Given the description of an element on the screen output the (x, y) to click on. 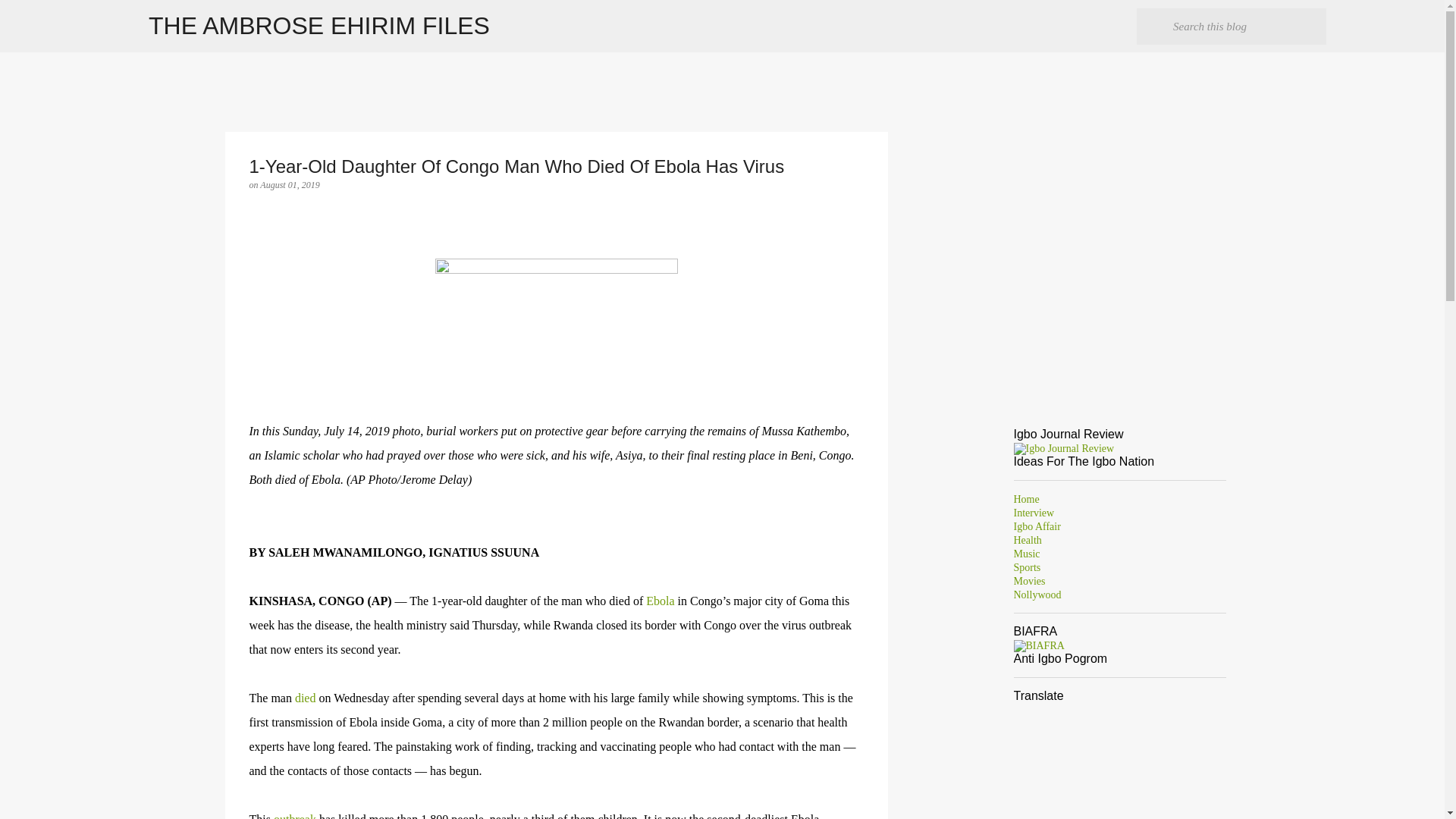
THE AMBROSE EHIRIM FILES (318, 25)
Interview (1033, 512)
Home (1026, 499)
August 01, 2019 (289, 184)
Movies (1029, 581)
Ebola (660, 600)
permanent link (289, 184)
Nollywood (1037, 594)
Igbo Affair (1036, 526)
Music (1026, 553)
Sports (1027, 567)
outbreak (294, 816)
died (305, 697)
Health (1027, 540)
